Given the description of an element on the screen output the (x, y) to click on. 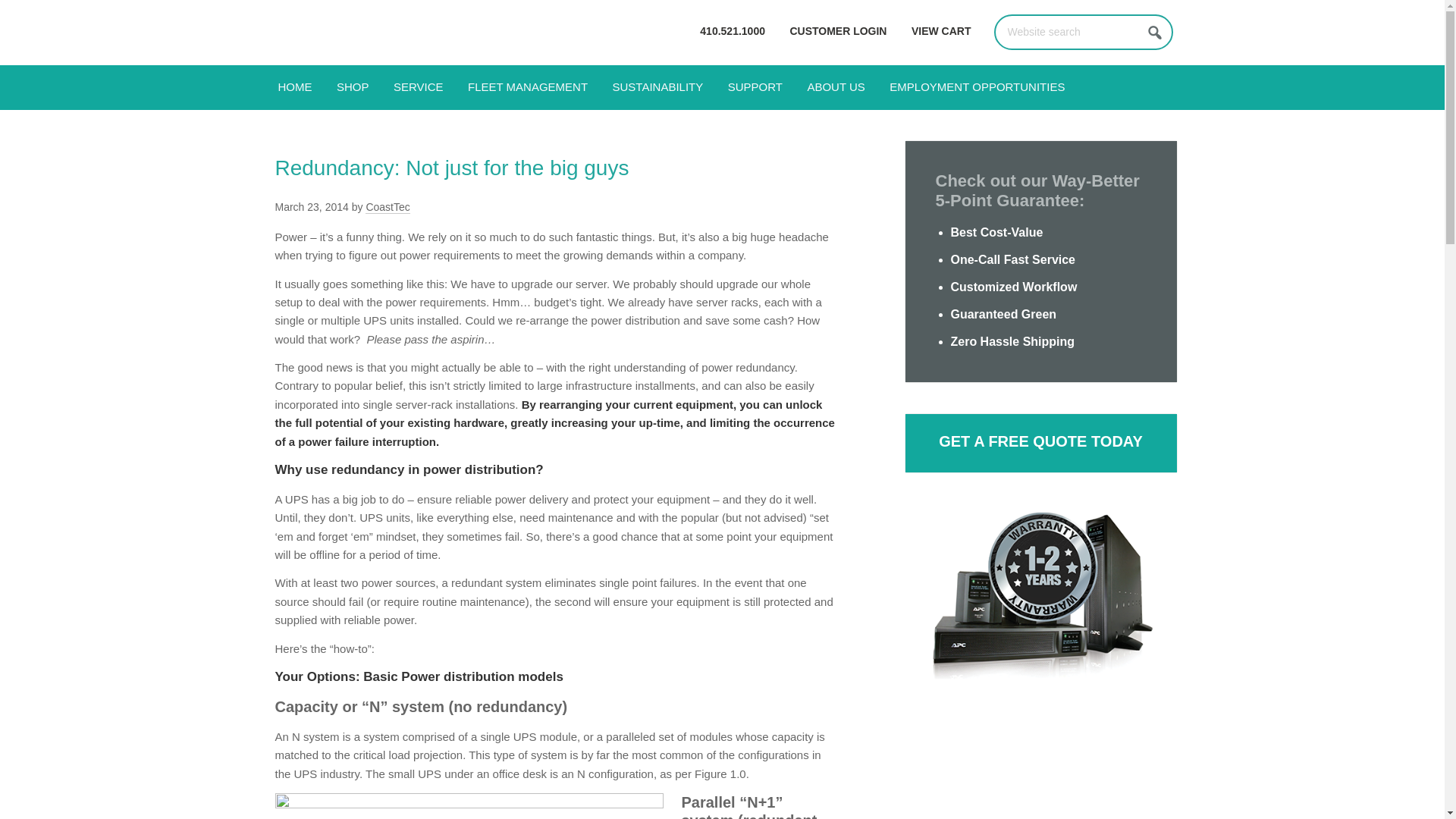
ABOUT US (835, 87)
SUSTAINABILITY (658, 87)
HOME (293, 87)
VIEW CART (941, 31)
CUSTOMER LOGIN (837, 31)
SUPPORT (755, 87)
FLEET MANAGEMENT (527, 87)
410.521.1000 (732, 31)
COASTTEC (403, 32)
Screen shot 2012-03-22 at 1.39.58 PM (468, 806)
